Given the description of an element on the screen output the (x, y) to click on. 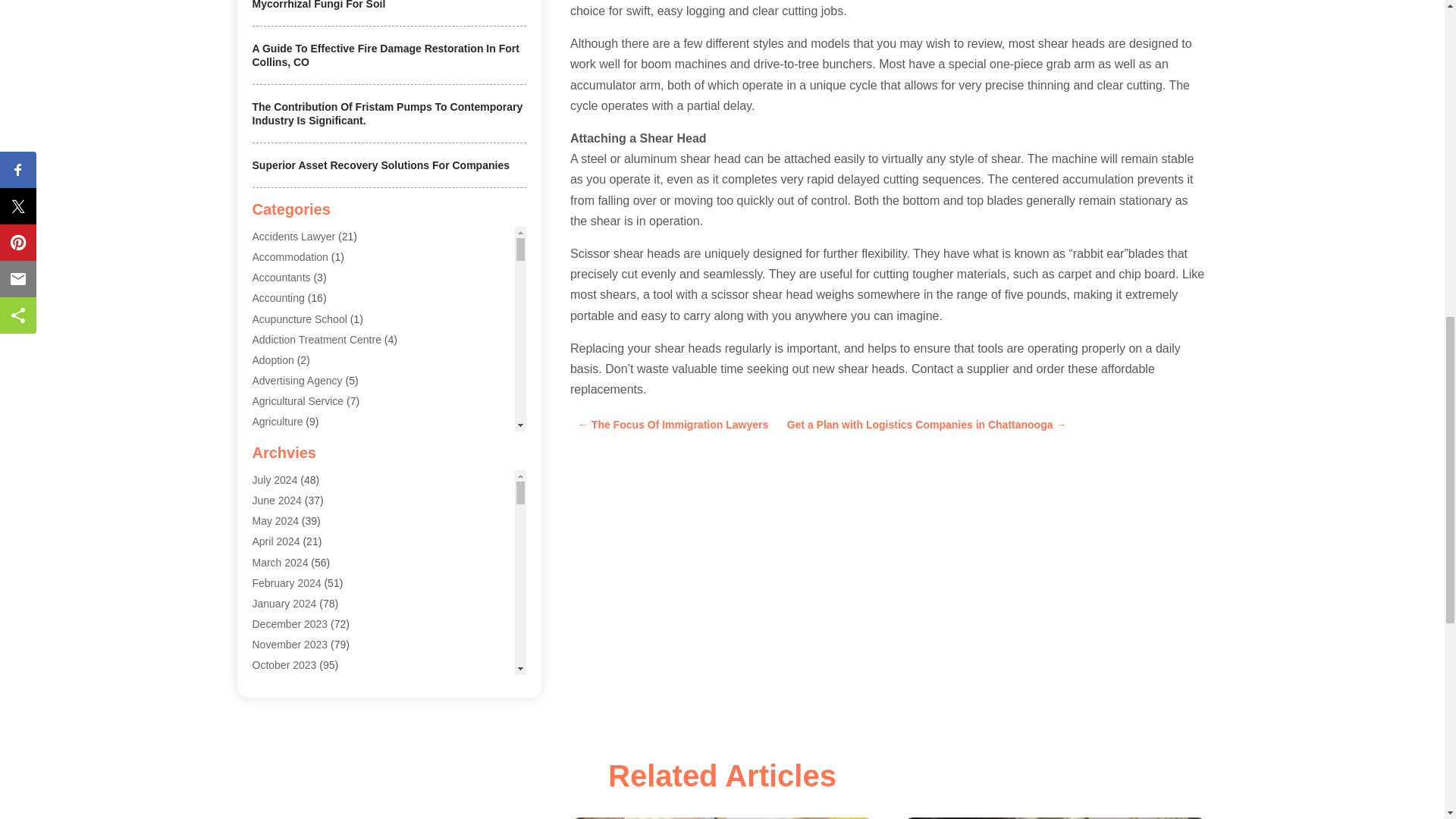
Agriculture (276, 421)
Accommodation (289, 256)
Accountants (280, 277)
Adoption (272, 359)
Superior Asset Recovery Solutions For Companies (379, 164)
Agronomy (275, 442)
Accidents Lawyer (292, 236)
Advertising Agency (296, 380)
Air Conditioner (286, 483)
Agricultural Service (297, 400)
Acupuncture School (298, 318)
Addiction Treatment Centre (315, 339)
Accounting (277, 297)
